Given the description of an element on the screen output the (x, y) to click on. 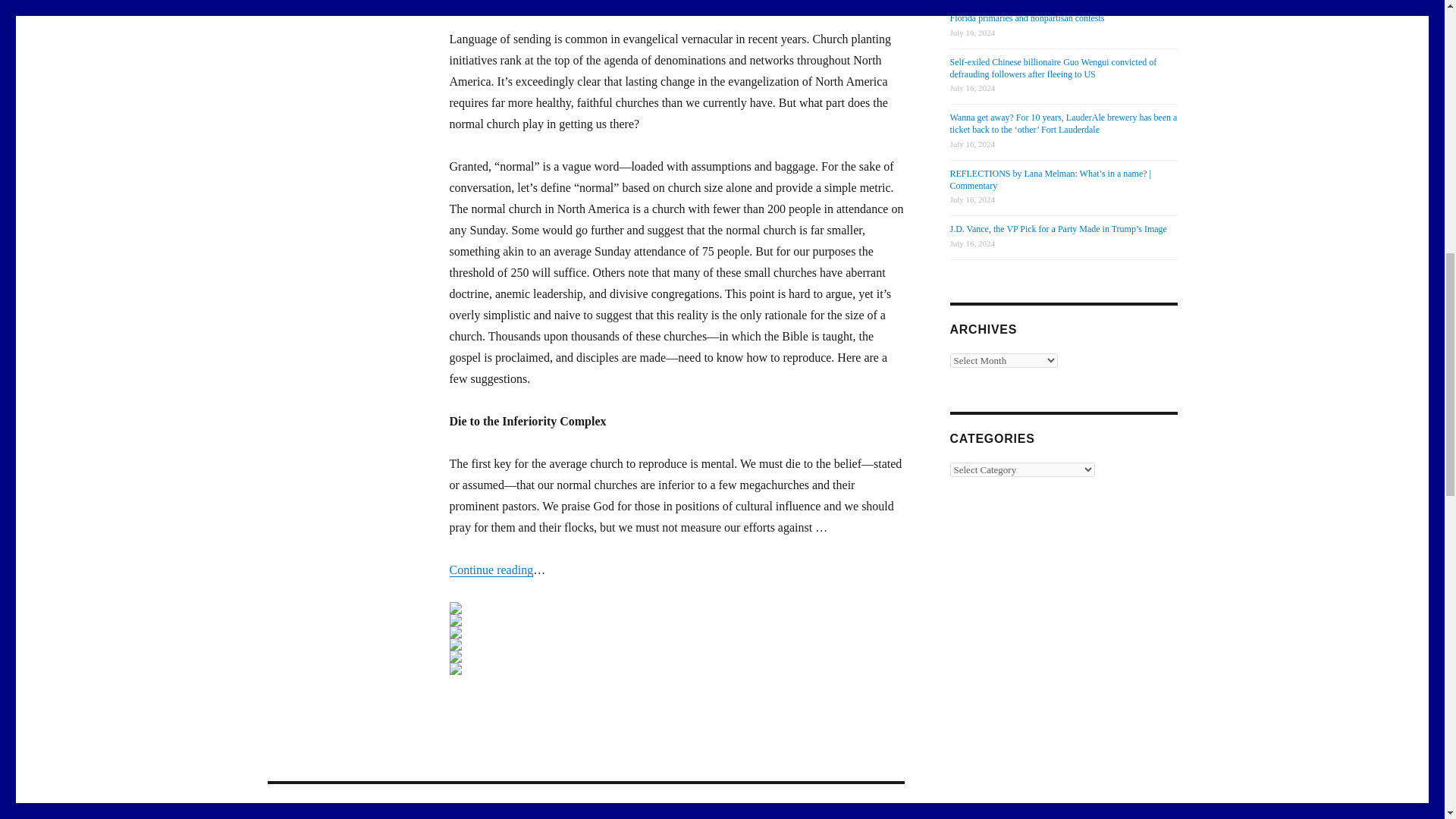
Continue reading (490, 569)
